Given the description of an element on the screen output the (x, y) to click on. 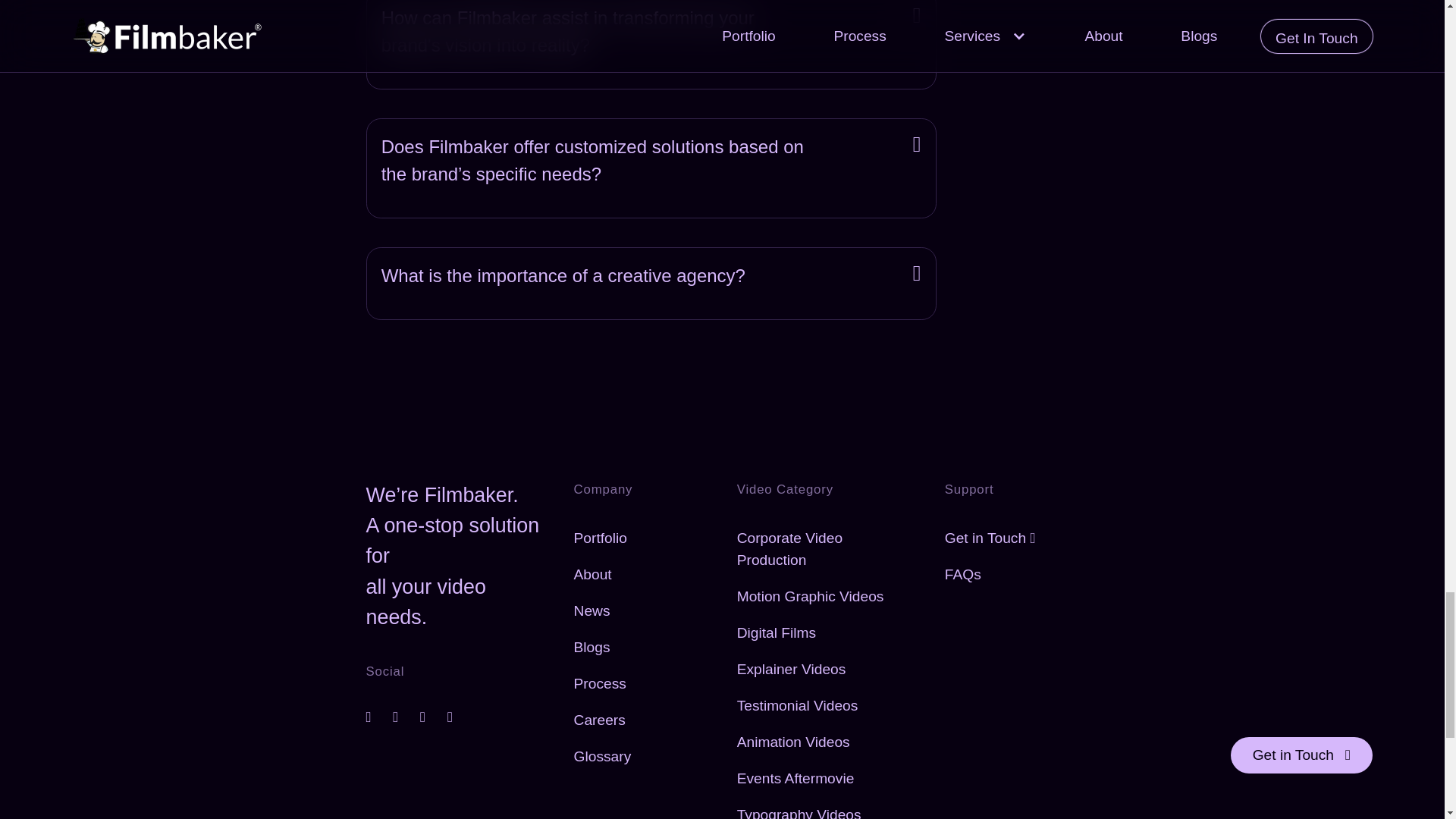
Portfolio (607, 538)
About (599, 575)
News (598, 611)
Blogs (598, 648)
Careers (606, 721)
Process (607, 684)
